Given the description of an element on the screen output the (x, y) to click on. 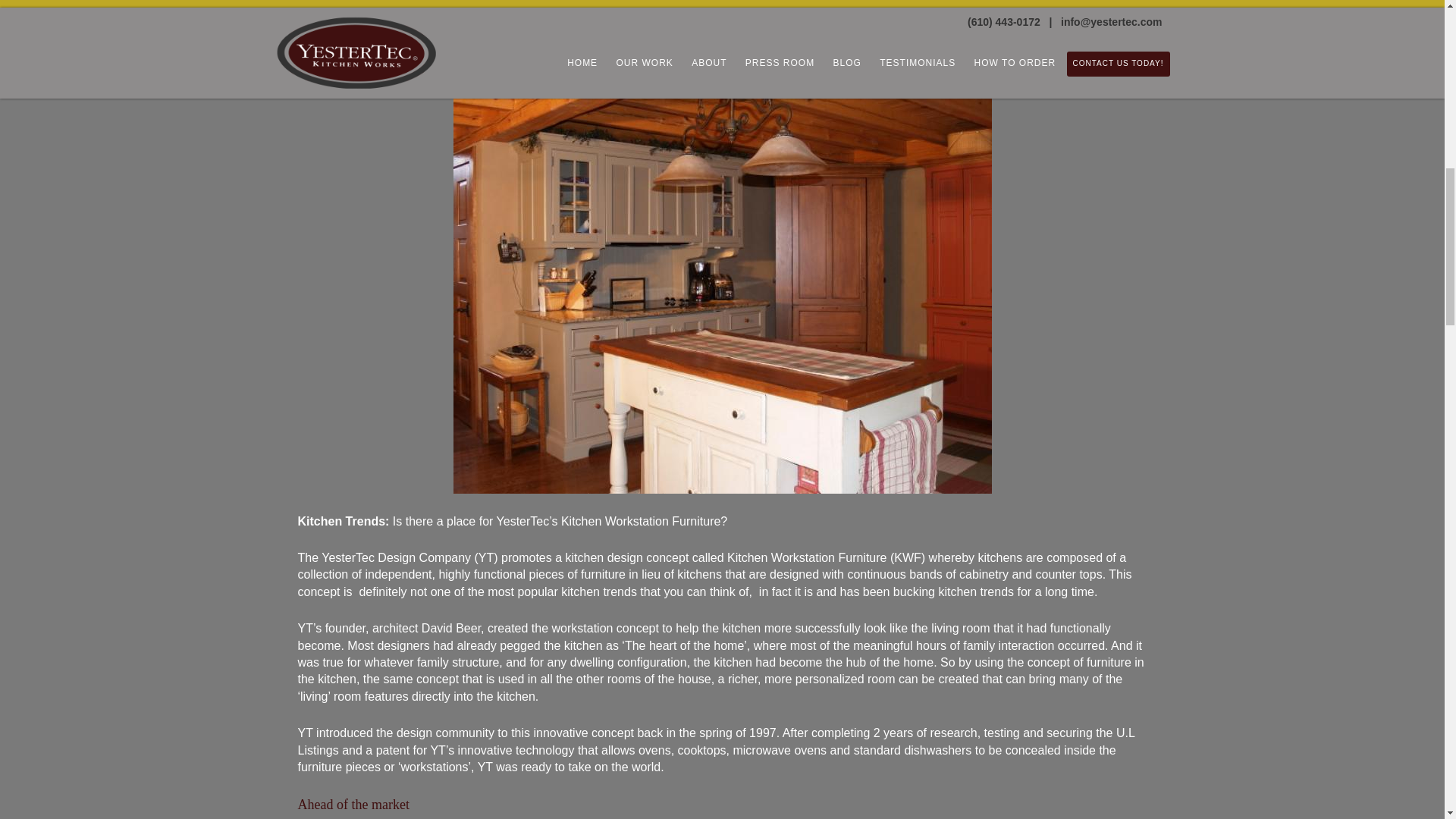
YesterTec (402, 29)
